Given the description of an element on the screen output the (x, y) to click on. 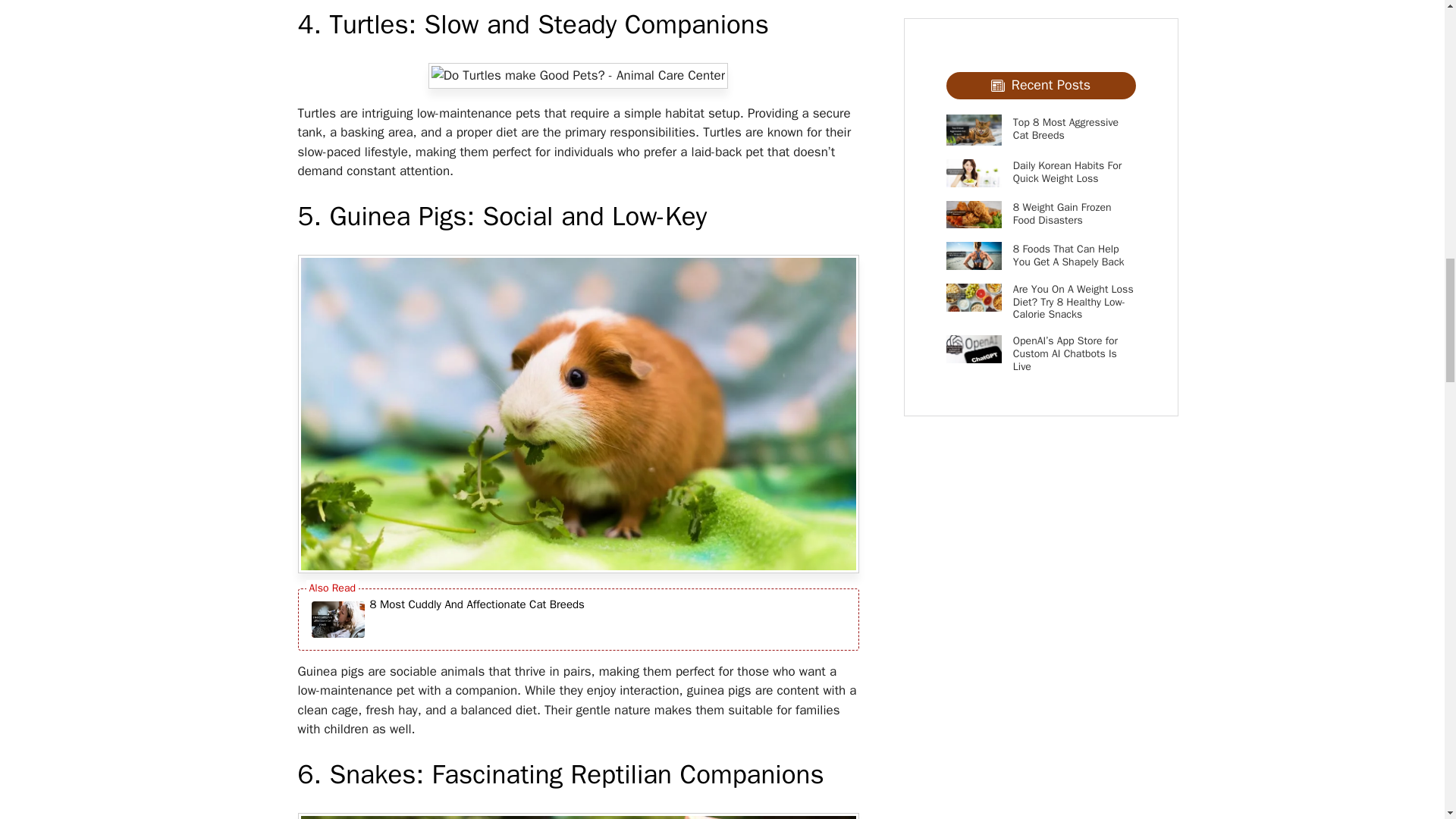
8 Most Cuddly And Affectionate Cat Breeds (477, 619)
